Given the description of an element on the screen output the (x, y) to click on. 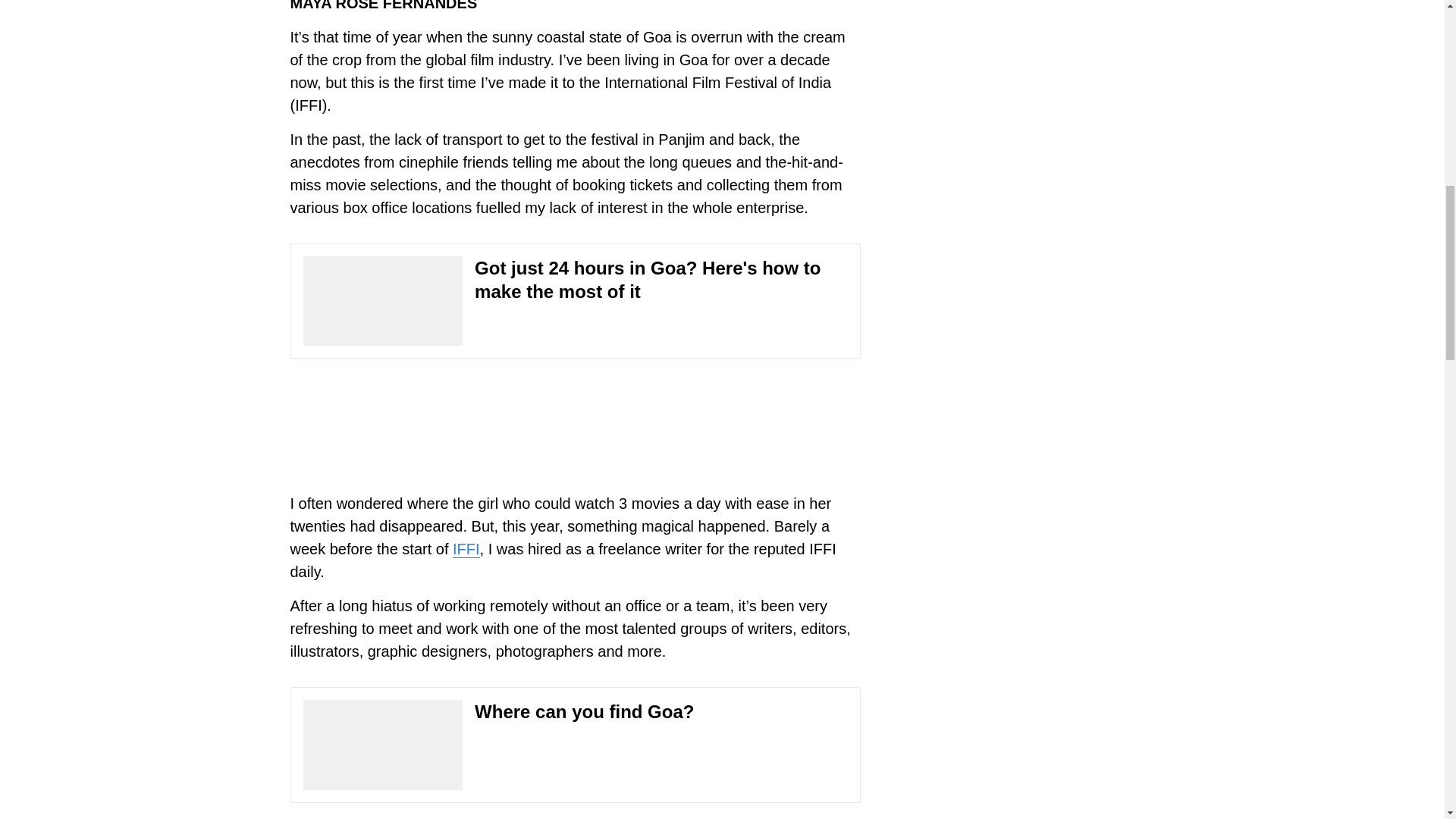
Got just 24 hours in Goa? Here's how to make the most of it (574, 300)
IFFI (466, 548)
Where can you find Goa? (574, 744)
